Given the description of an element on the screen output the (x, y) to click on. 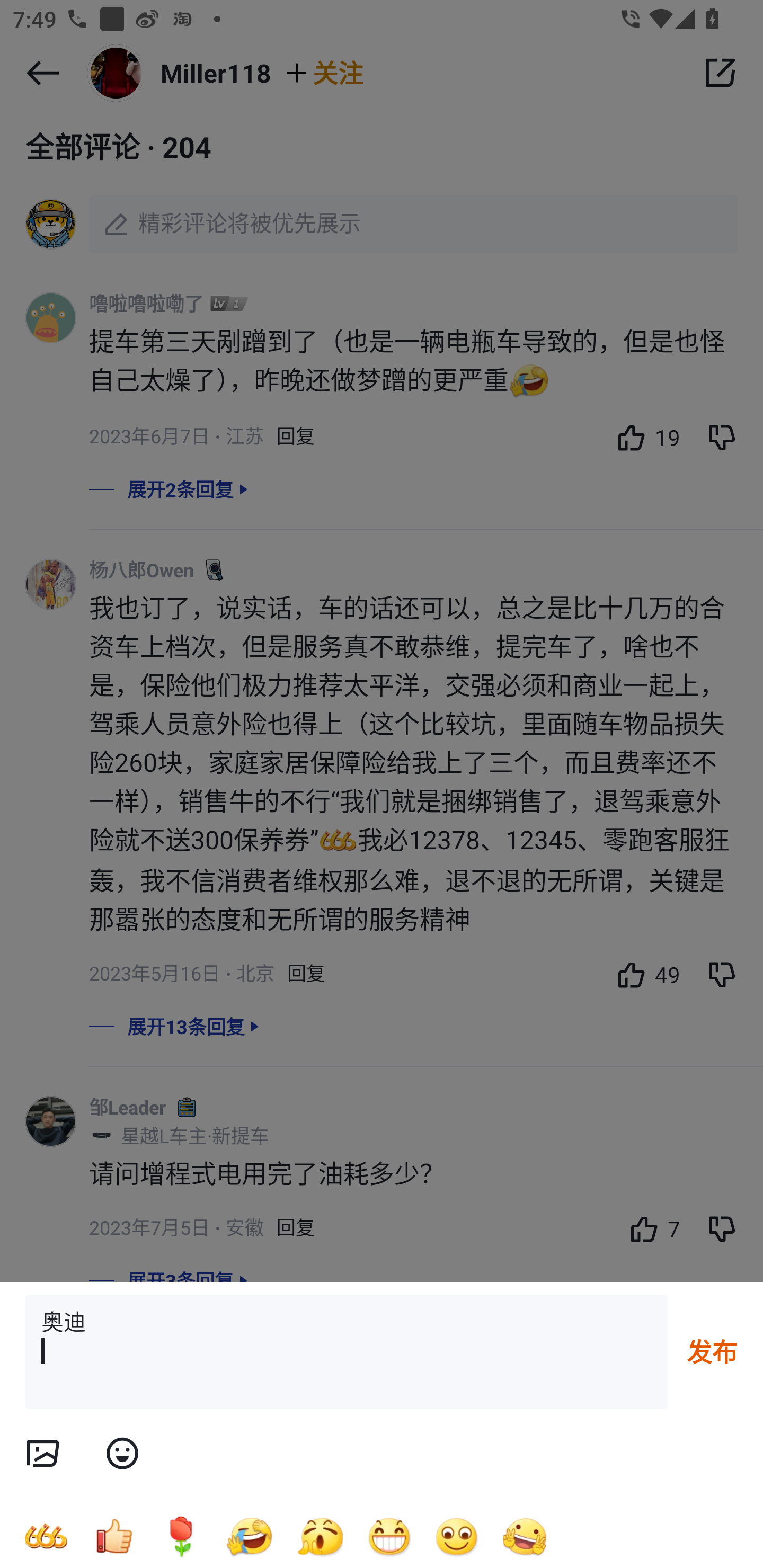
奥迪
 (346, 1352)
发布 (711, 1351)
 (42, 1453)
 (122, 1453)
[666] (45, 1535)
[赞] (112, 1535)
[玫瑰] (180, 1535)
[我想静静] (249, 1535)
[小鼓掌] (320, 1535)
[呲牙] (389, 1535)
[微笑] (456, 1535)
[耶] (524, 1535)
